Given the description of an element on the screen output the (x, y) to click on. 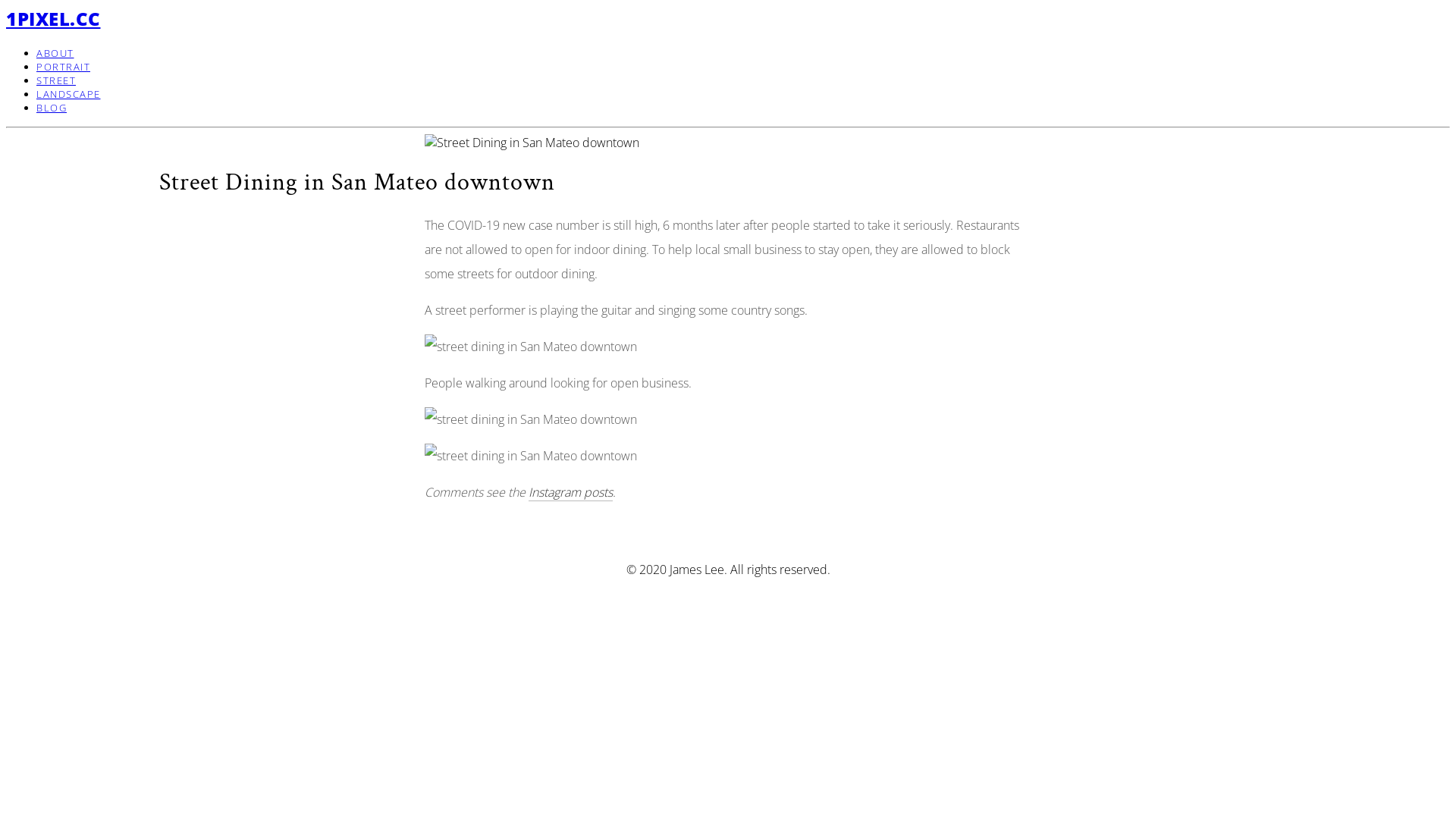
ABOUT Element type: text (55, 52)
PORTRAIT Element type: text (63, 66)
1PIXEL.CC Element type: text (53, 18)
STREET Element type: text (55, 80)
BLOG Element type: text (51, 107)
Instagram posts Element type: text (570, 492)
LANDSCAPE Element type: text (68, 93)
